Given the description of an element on the screen output the (x, y) to click on. 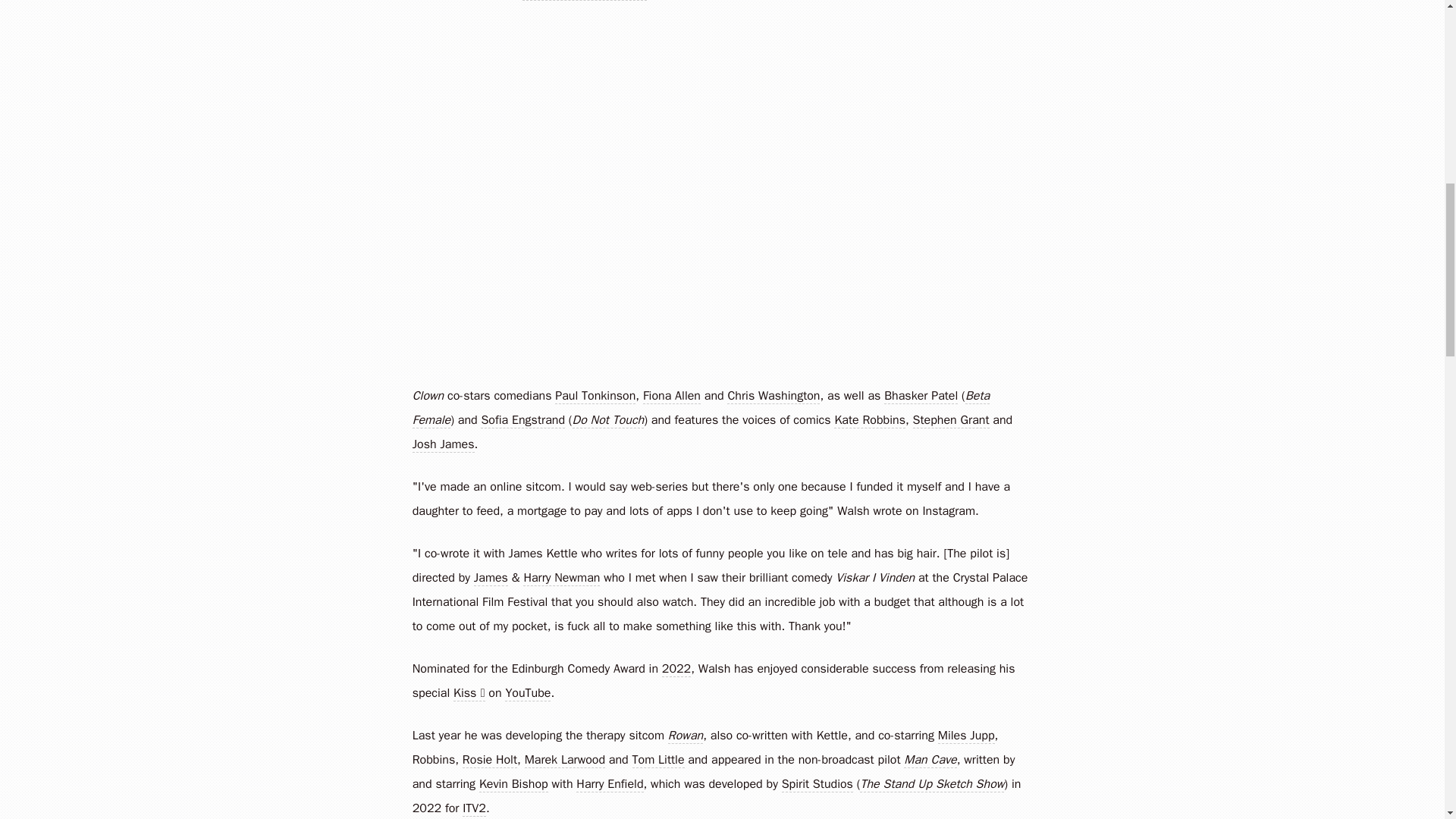
Kate Robbins (869, 420)
Sofia Engstrand (522, 420)
Chris Washington profile (772, 396)
Sofia Engstrand profile (522, 420)
Clown (428, 395)
Bhasker Patel profile (920, 396)
Do Not Touch (608, 420)
Beta Female (701, 408)
Kate Robbins profile (869, 420)
Paul Tonkinson profile (594, 396)
Chris Washington (772, 396)
Clown: 2024 YouTube sitcom. Click for a guide. (428, 395)
